Given the description of an element on the screen output the (x, y) to click on. 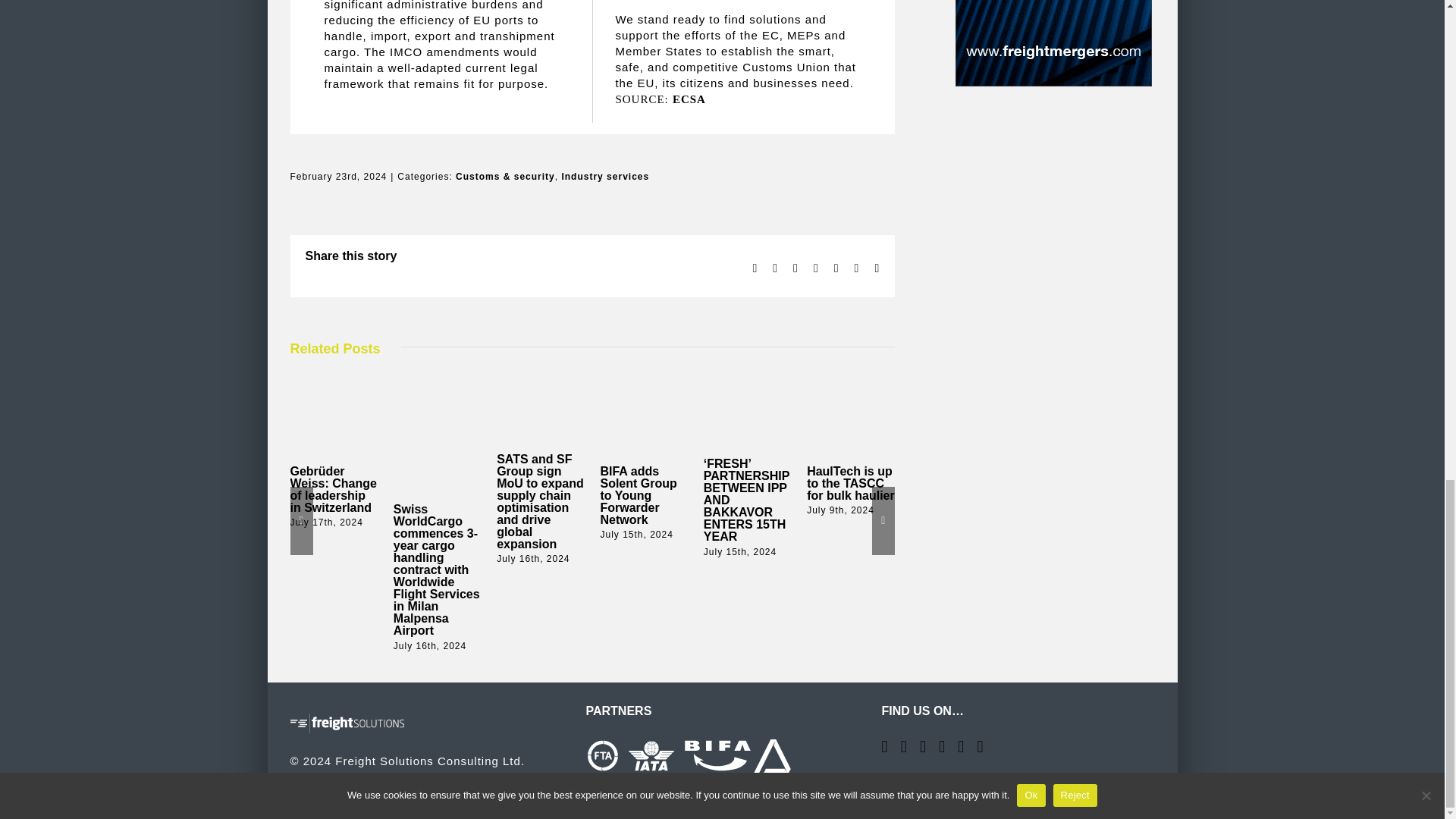
BIFA adds Solent Group to Young Forwarder Network (638, 495)
